Given the description of an element on the screen output the (x, y) to click on. 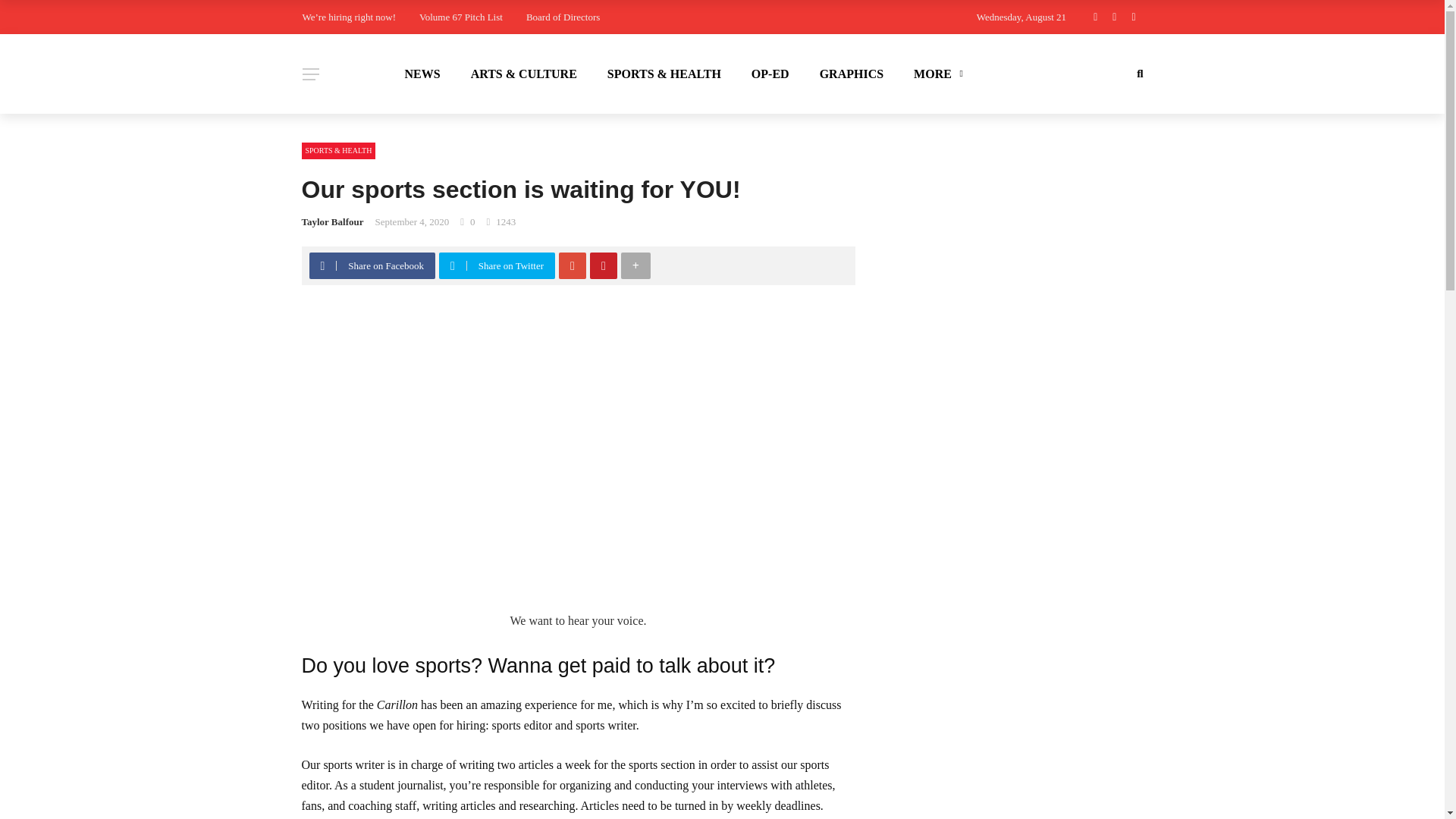
MORE (936, 73)
GRAPHICS (851, 73)
Board of Directors (562, 16)
Volume 67 Pitch List (460, 16)
